Given the description of an element on the screen output the (x, y) to click on. 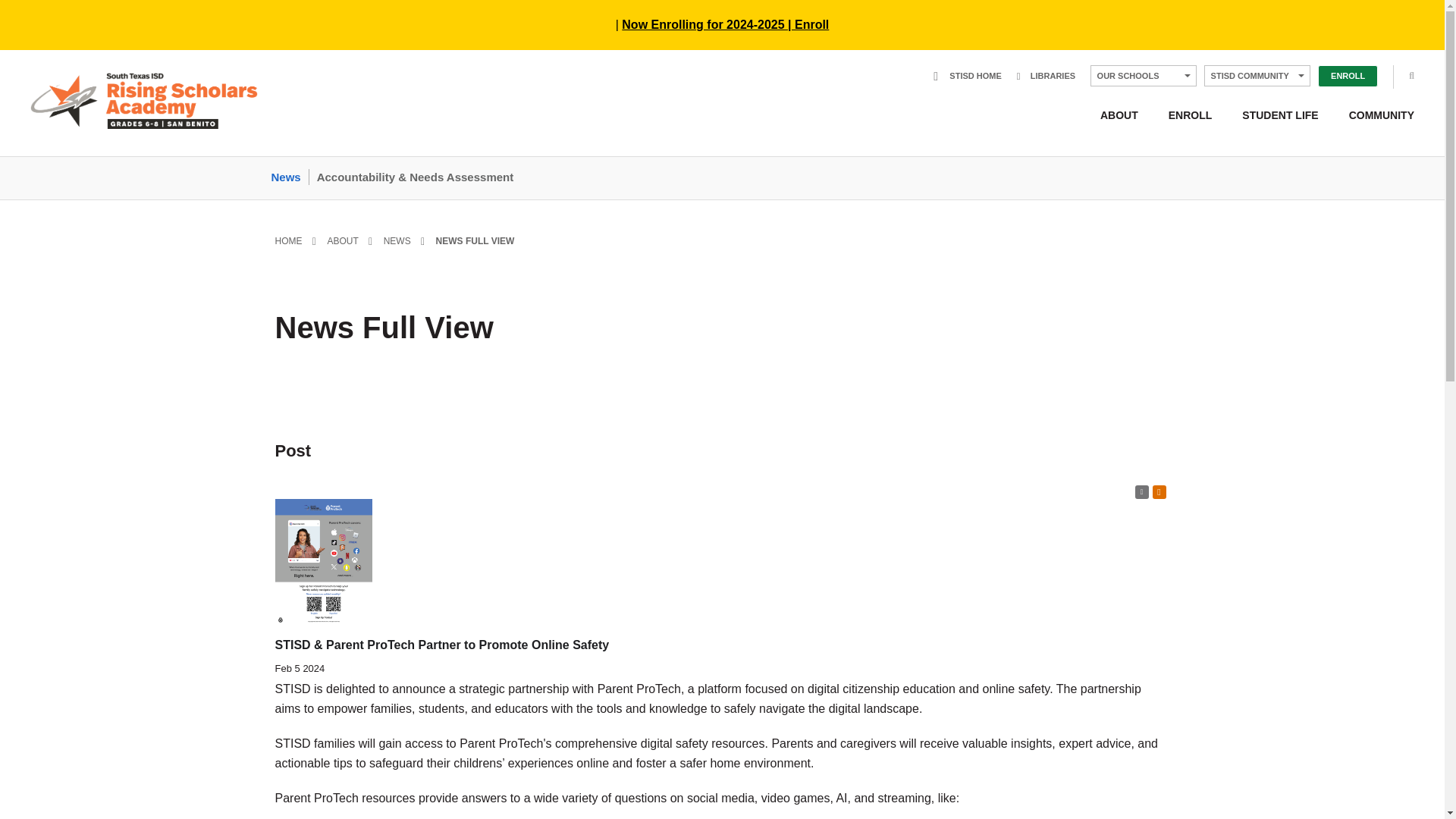
ENROLL (1347, 75)
STISD HOME (968, 75)
ABOUT (1118, 115)
ENROLL (1190, 115)
LIBRARIES (1045, 75)
Rising Scholars Academy (143, 100)
RSS (1141, 491)
STUDENT LIFE (1280, 115)
Alerts (1159, 491)
COMMUNITY (1373, 115)
